Given the description of an element on the screen output the (x, y) to click on. 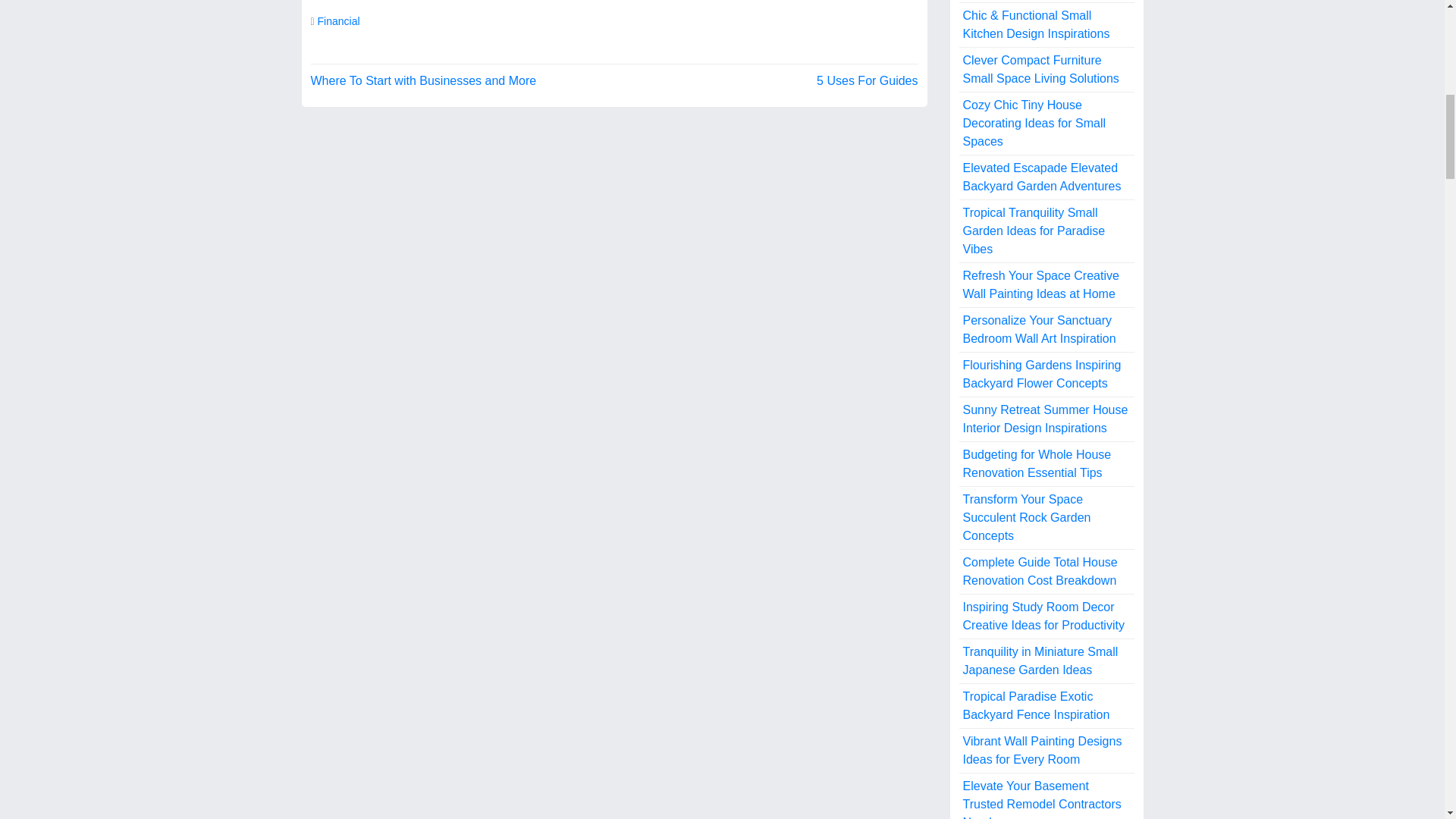
Financial (338, 21)
